Given the description of an element on the screen output the (x, y) to click on. 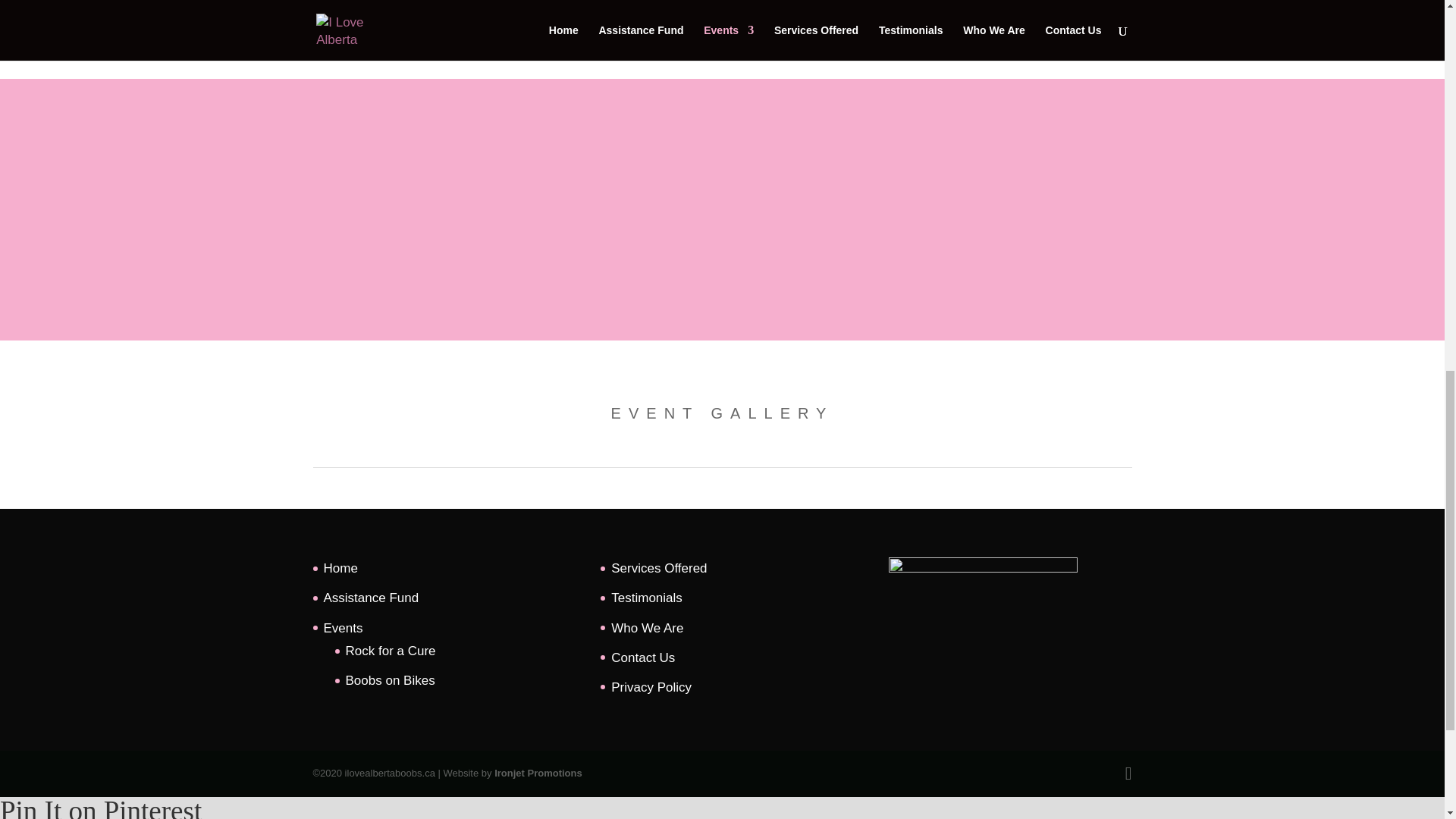
Services Offered (658, 568)
Contact Us (643, 657)
Privacy Policy (651, 687)
Who We Are (646, 627)
Rock for a Cure (390, 650)
Ironjet Promotions (538, 772)
Testimonials (646, 597)
Events (342, 627)
Home (339, 568)
Boobs on Bikes (390, 680)
